Given the description of an element on the screen output the (x, y) to click on. 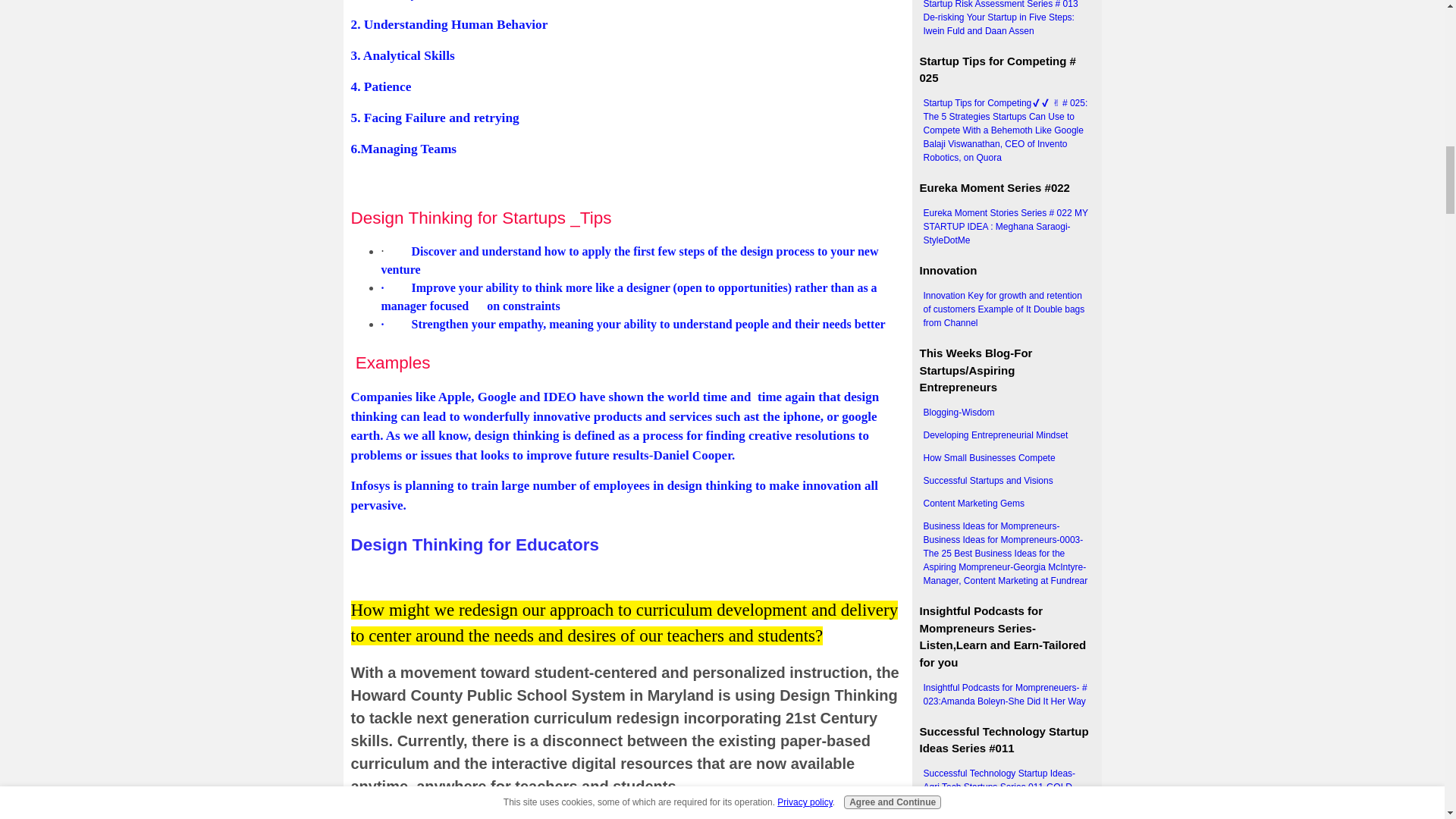
Developing Entrepreneurial Mindset (1005, 435)
Blogging-Wisdom (1005, 412)
How Small Businesses Compete (1005, 457)
Successful Startups and Visions (1005, 480)
Content Marketing Gems (1005, 503)
